Given the description of an element on the screen output the (x, y) to click on. 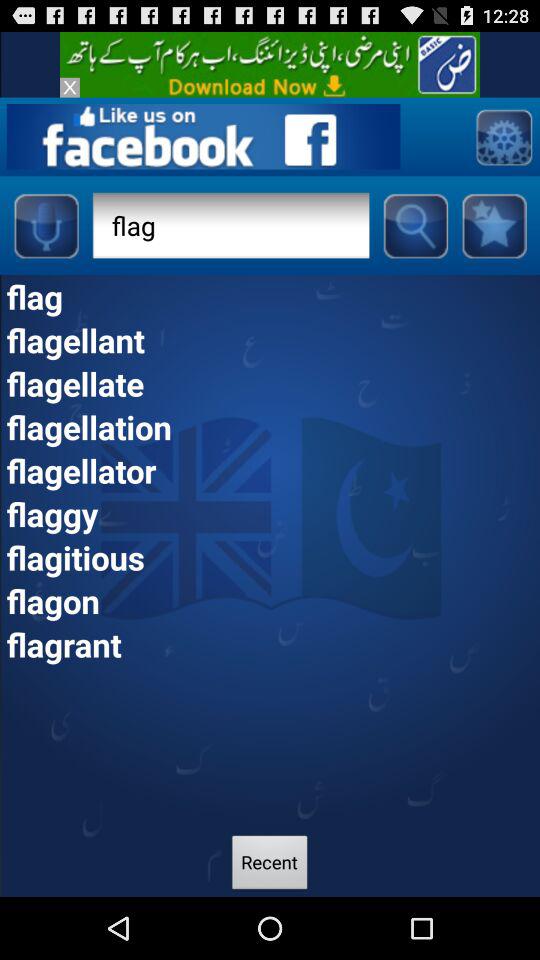
like on facebook (203, 136)
